Given the description of an element on the screen output the (x, y) to click on. 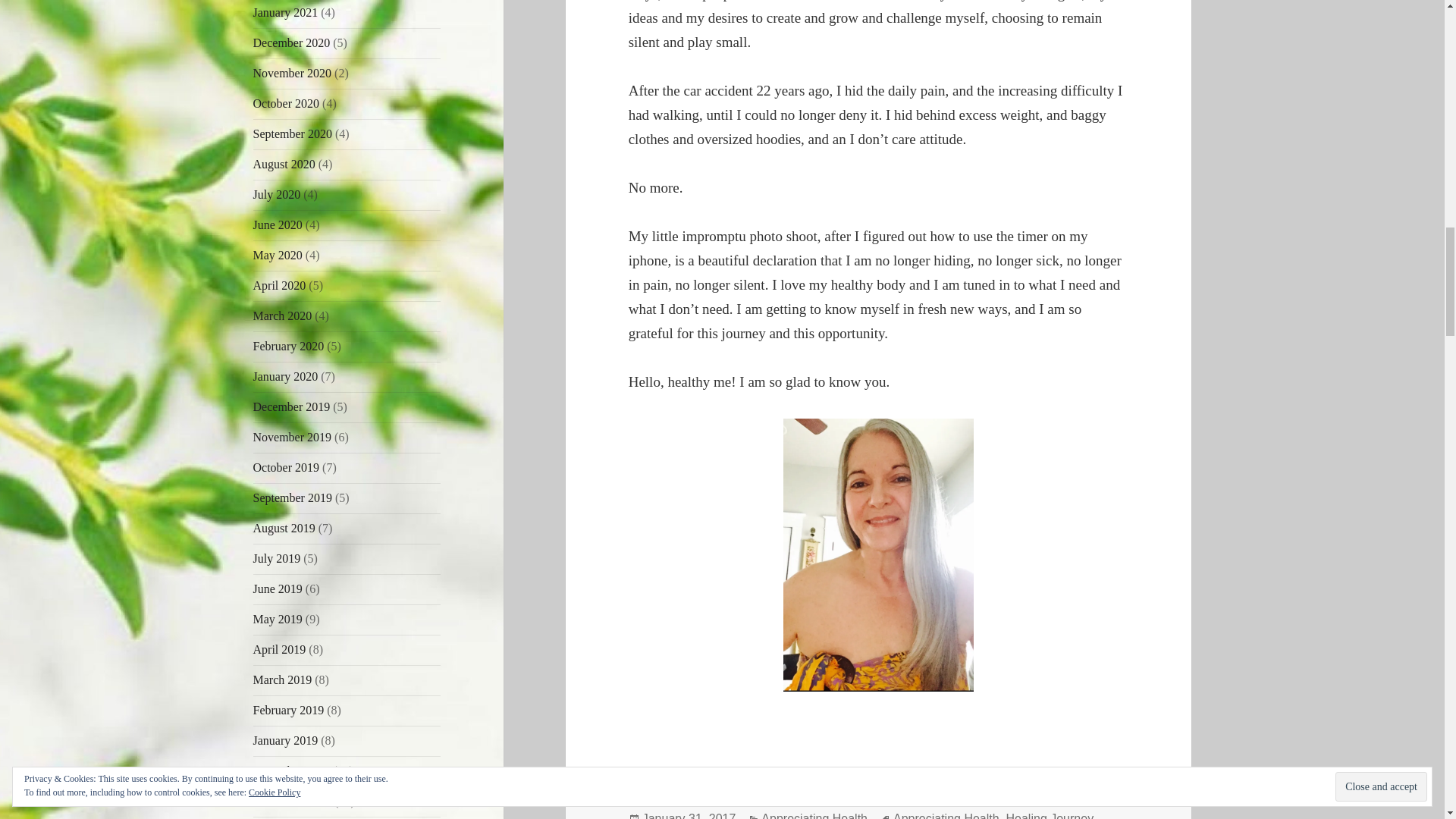
Healthy glow (878, 554)
